Given the description of an element on the screen output the (x, y) to click on. 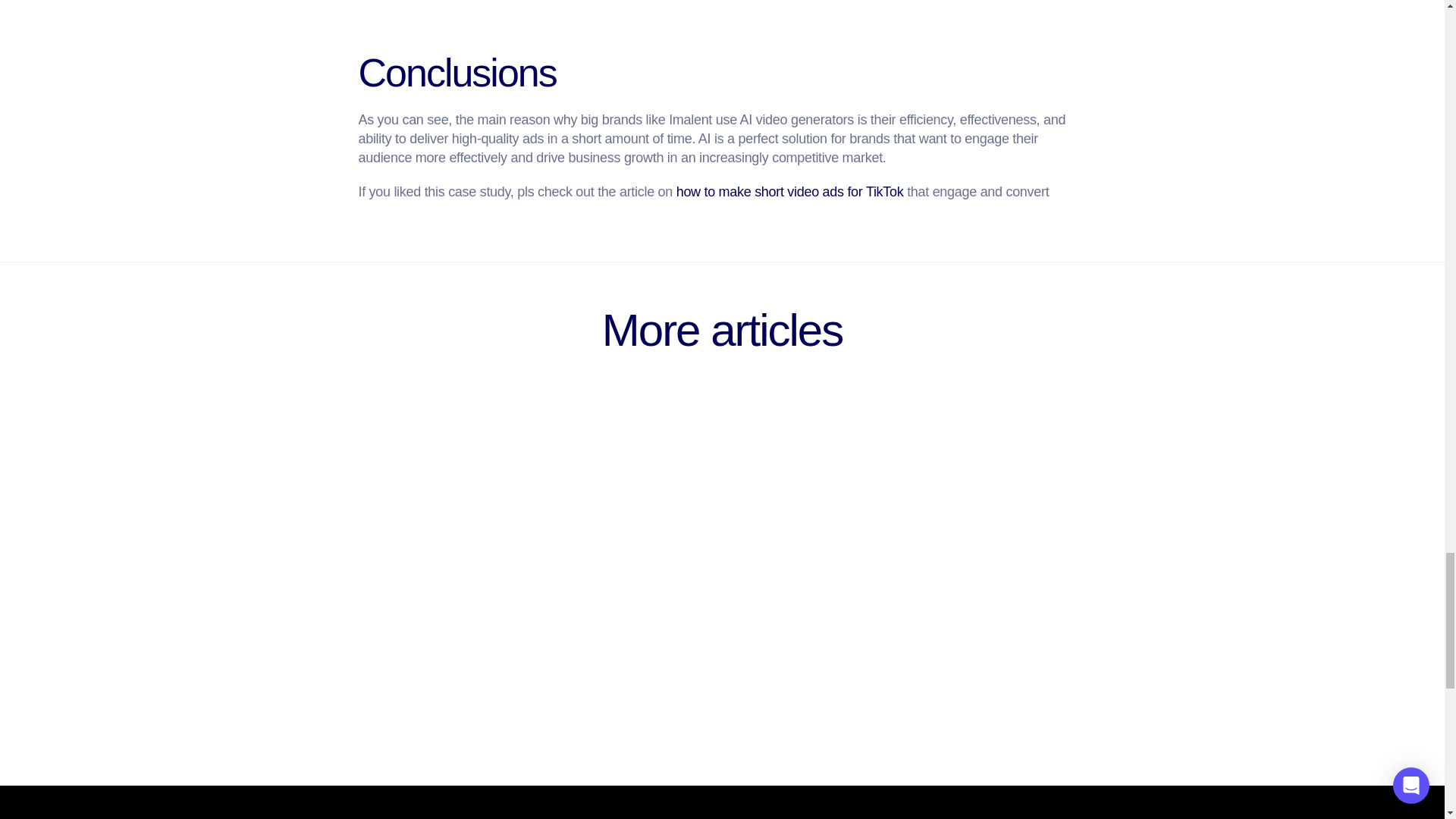
how to make short video ads for TikTok (790, 191)
